Given the description of an element on the screen output the (x, y) to click on. 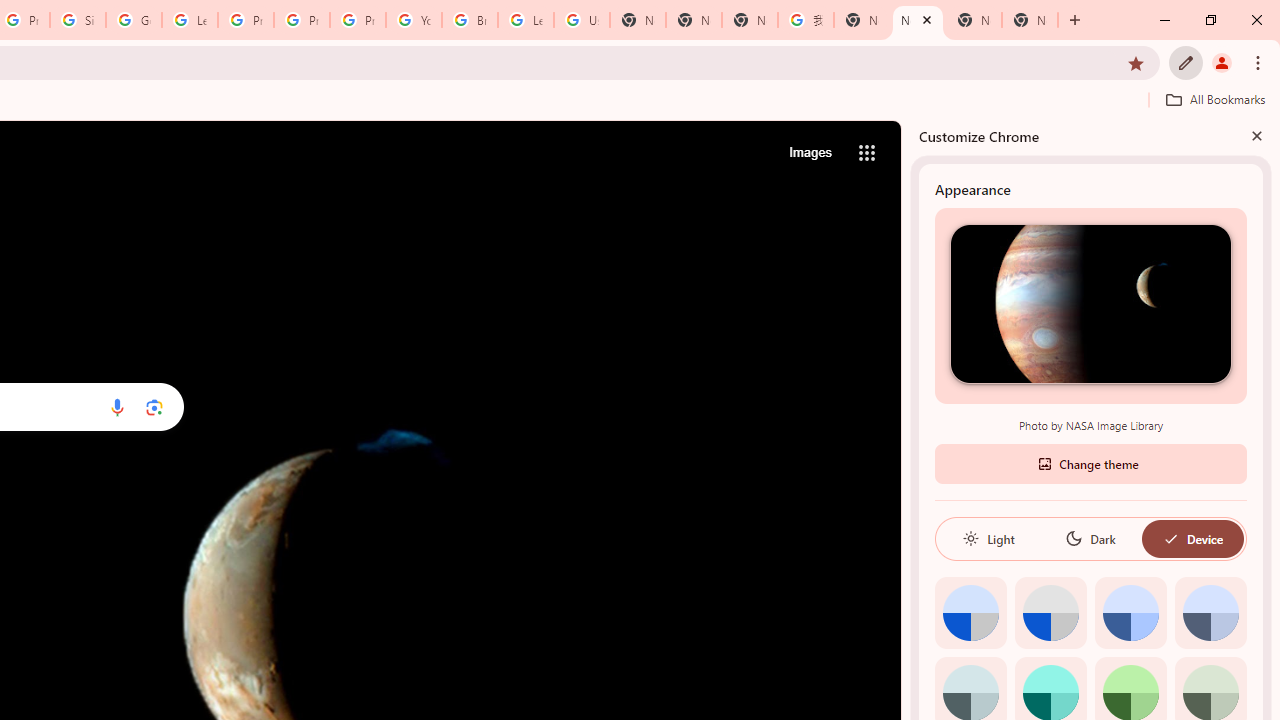
Privacy Help Center - Policies Help (245, 20)
Light (988, 538)
Photo by NASA Image Library (1090, 303)
AutomationID: baseSvg (1170, 538)
Dark (1090, 538)
New Tab (693, 20)
Cool grey (1210, 612)
Grey default color (1050, 612)
New Tab (1030, 20)
